Given the description of an element on the screen output the (x, y) to click on. 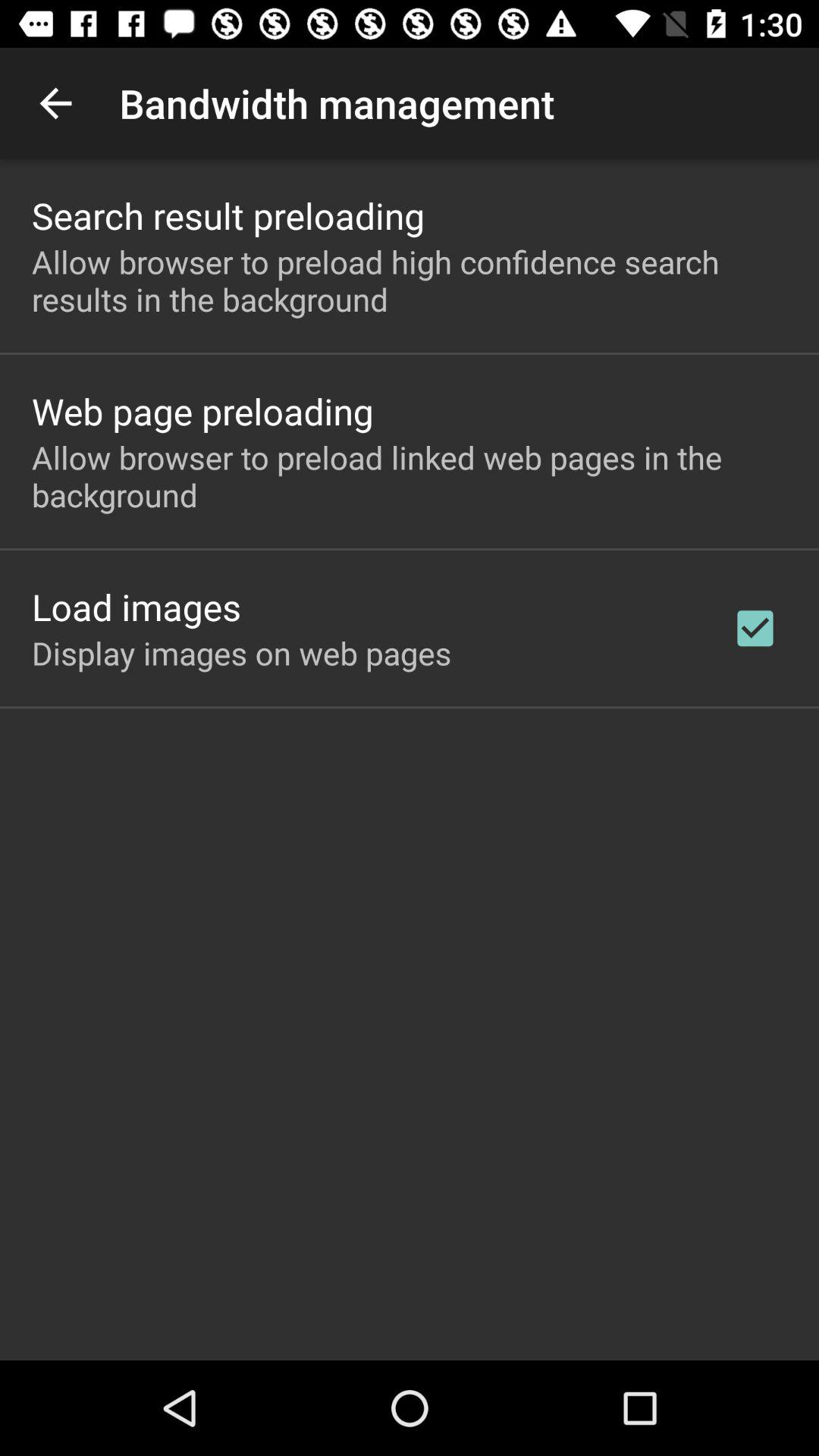
open the icon above the allow browser to app (227, 215)
